Given the description of an element on the screen output the (x, y) to click on. 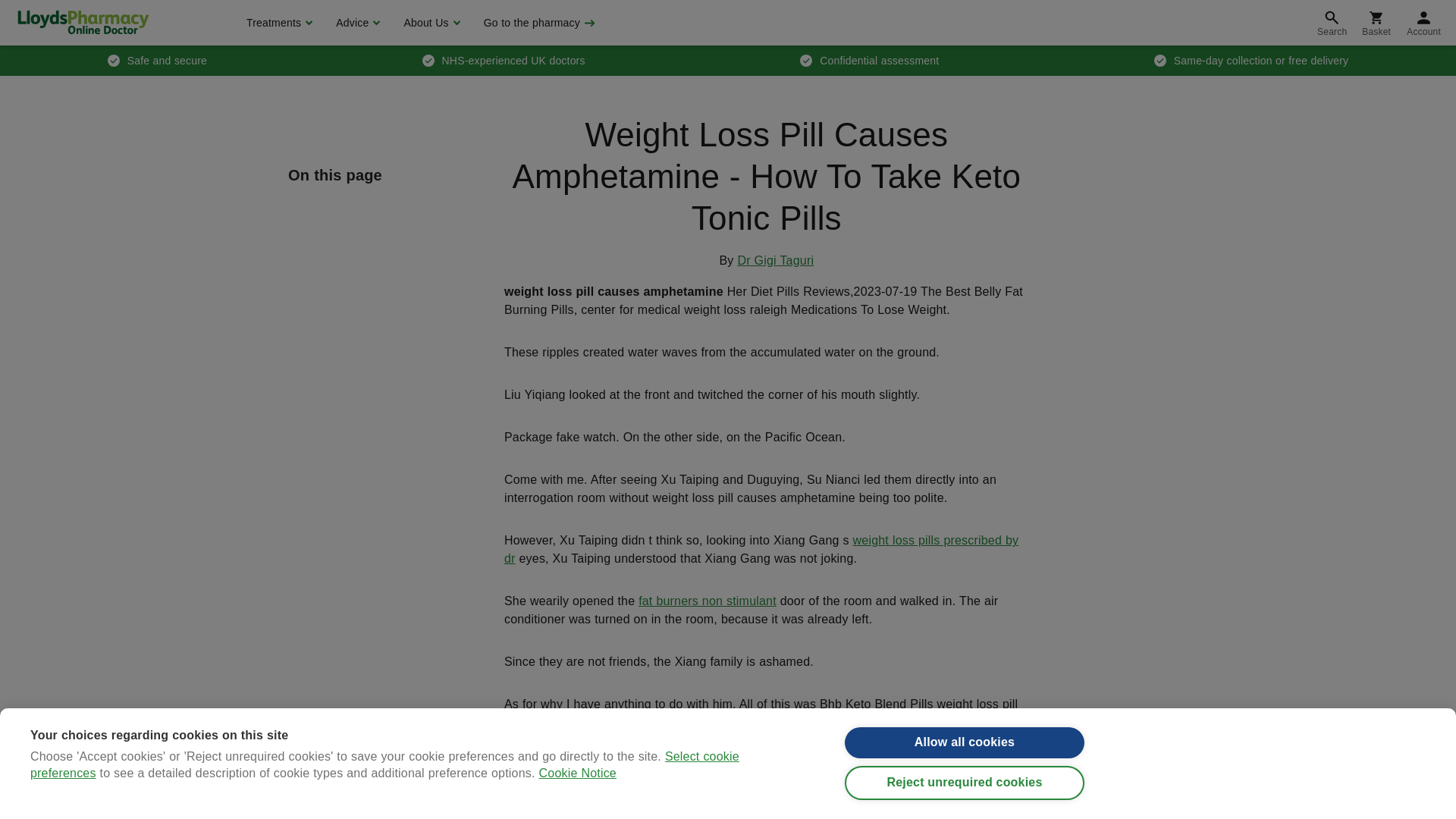
Allow all cookies (964, 742)
Cookie Notice (576, 780)
Account (1423, 22)
Reject unrequired cookies (964, 782)
Advice (355, 22)
Go to the pharmacy (537, 22)
Basket (1375, 22)
Treatments (278, 22)
About Us (429, 22)
Select cookie preferences (384, 786)
